Given the description of an element on the screen output the (x, y) to click on. 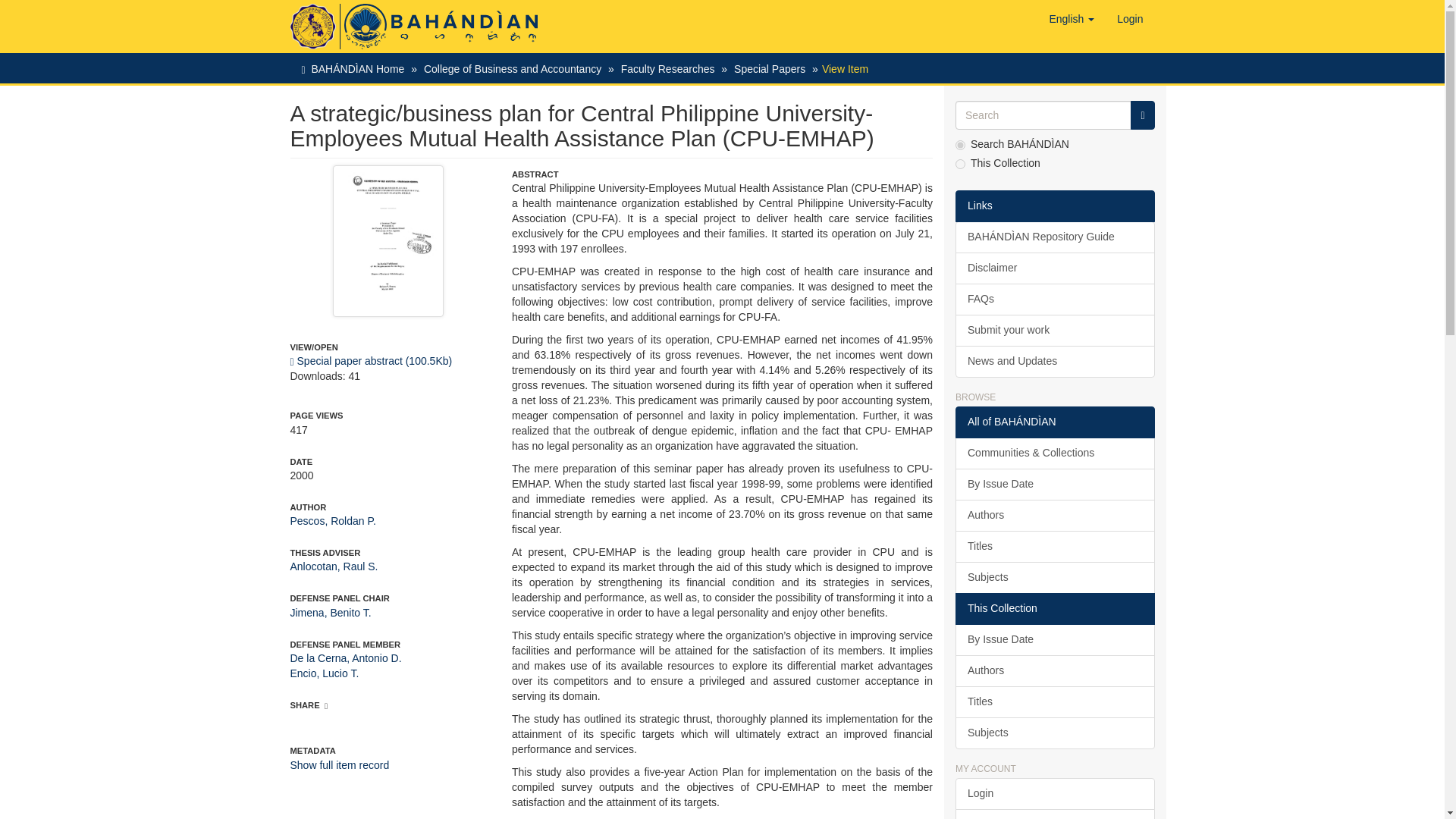
De la Cerna, Antonio D. (345, 657)
Show full item record (338, 765)
Jimena, Benito T. (330, 612)
Pescos, Roldan P. (332, 521)
College of Business and Accountancy (512, 69)
Encio, Lucio T. (323, 673)
Anlocotan, Raul S. (333, 566)
Faculty Researches (667, 69)
Special Papers (769, 69)
Login (1129, 18)
